Given the description of an element on the screen output the (x, y) to click on. 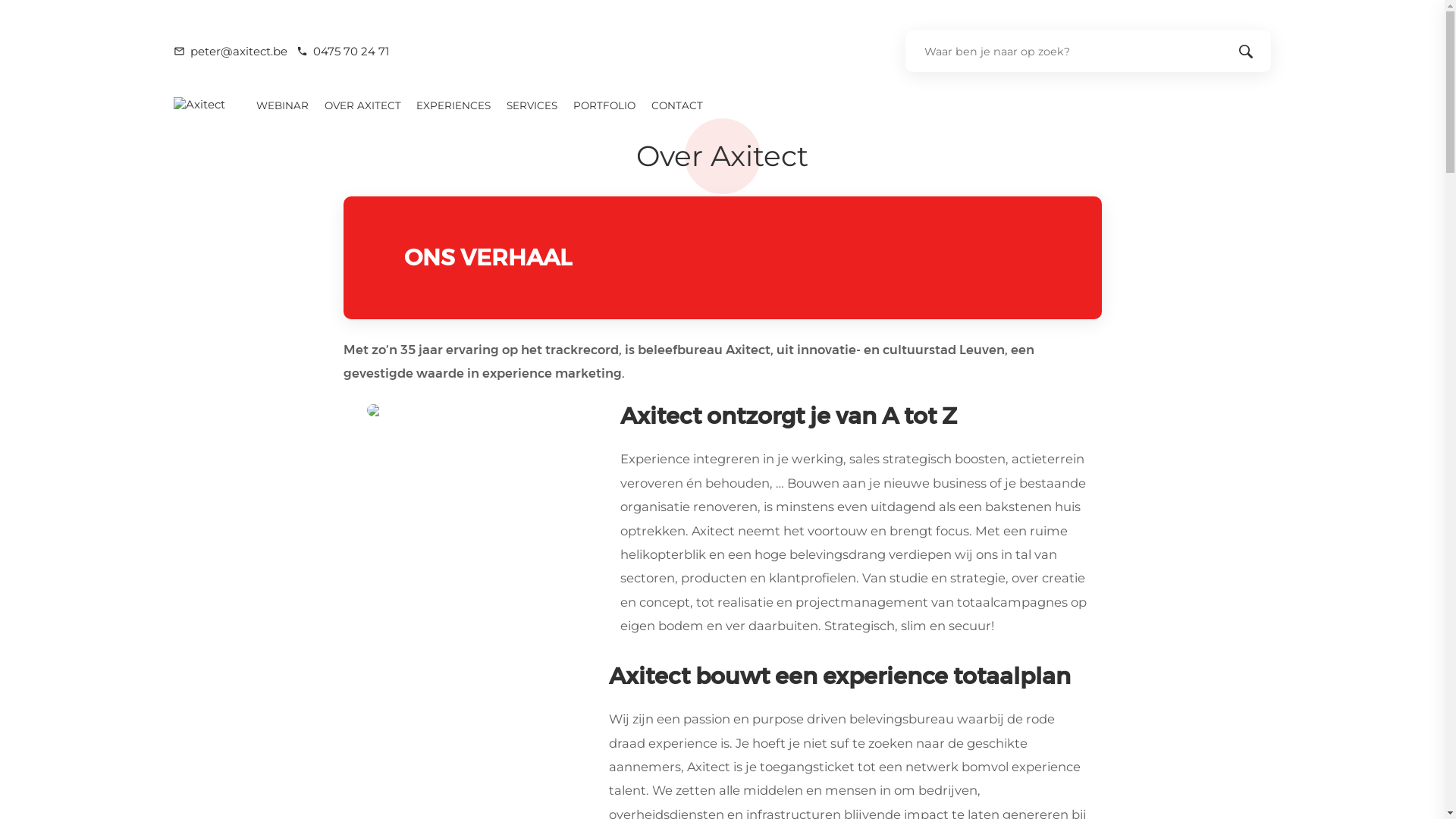
PORTFOLIO Element type: text (604, 105)
phone
0475 70 24 71 Element type: text (342, 51)
Axitect Element type: hover (199, 104)
SERVICES Element type: text (531, 105)
EXPERIENCES Element type: text (453, 105)
mail_outline
peter@axitect.be Element type: text (230, 51)
WEBINAR Element type: text (281, 105)
CONTACT Element type: text (677, 105)
OVER AXITECT Element type: text (361, 105)
